Given the description of an element on the screen output the (x, y) to click on. 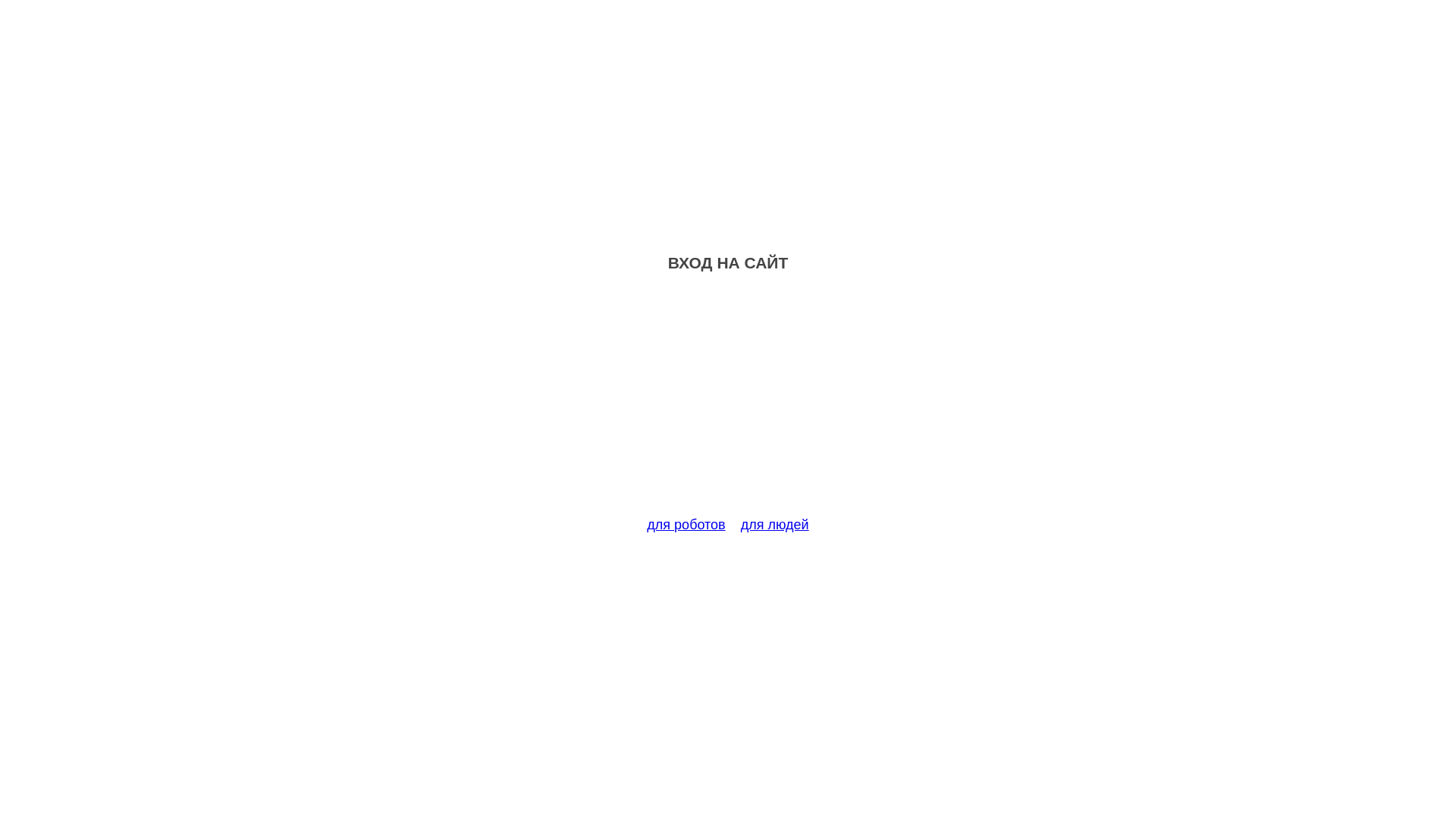
Advertisement Element type: hover (727, 403)
